Given the description of an element on the screen output the (x, y) to click on. 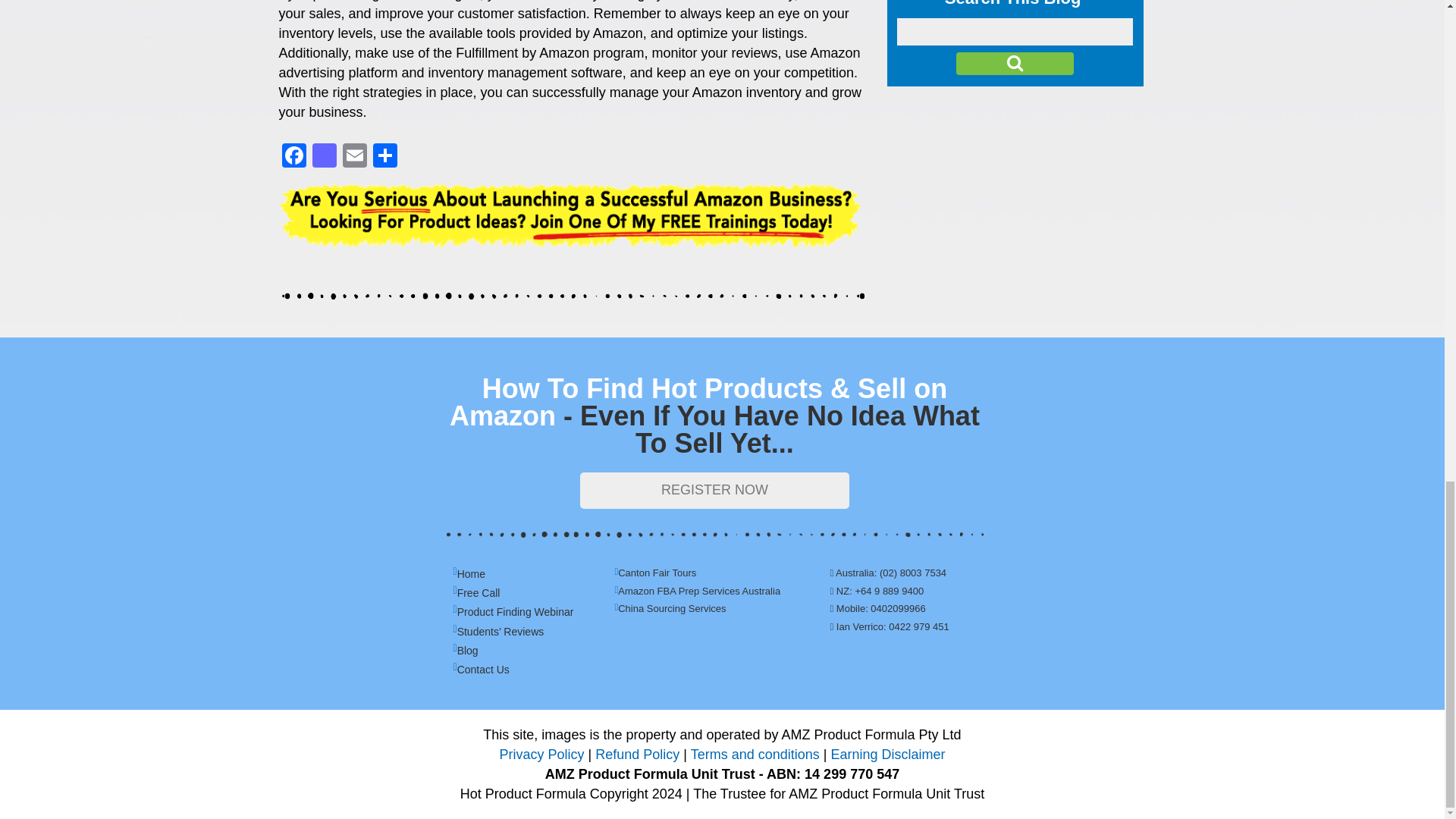
Share (384, 157)
Facebook (293, 157)
Search (1015, 63)
Email (354, 157)
Facebook (293, 157)
Mastodon (323, 157)
Mastodon (323, 157)
Email (354, 157)
